Given the description of an element on the screen output the (x, y) to click on. 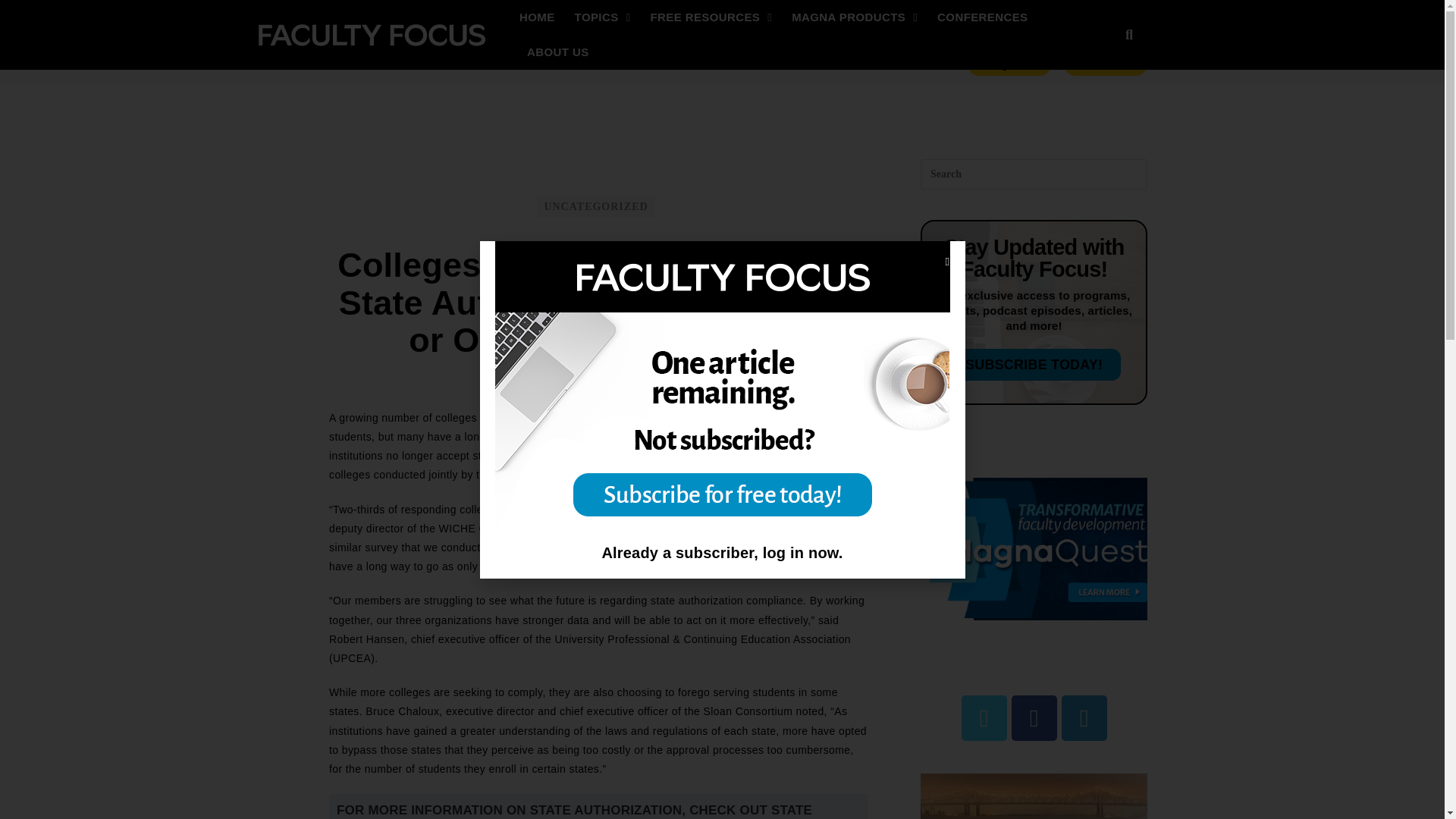
TOPICS (602, 17)
ABOUT US (557, 52)
CONFERENCES (981, 17)
MAGNA PRODUCTS (854, 17)
FREE RESOURCES (710, 17)
HOME (536, 17)
